Given the description of an element on the screen output the (x, y) to click on. 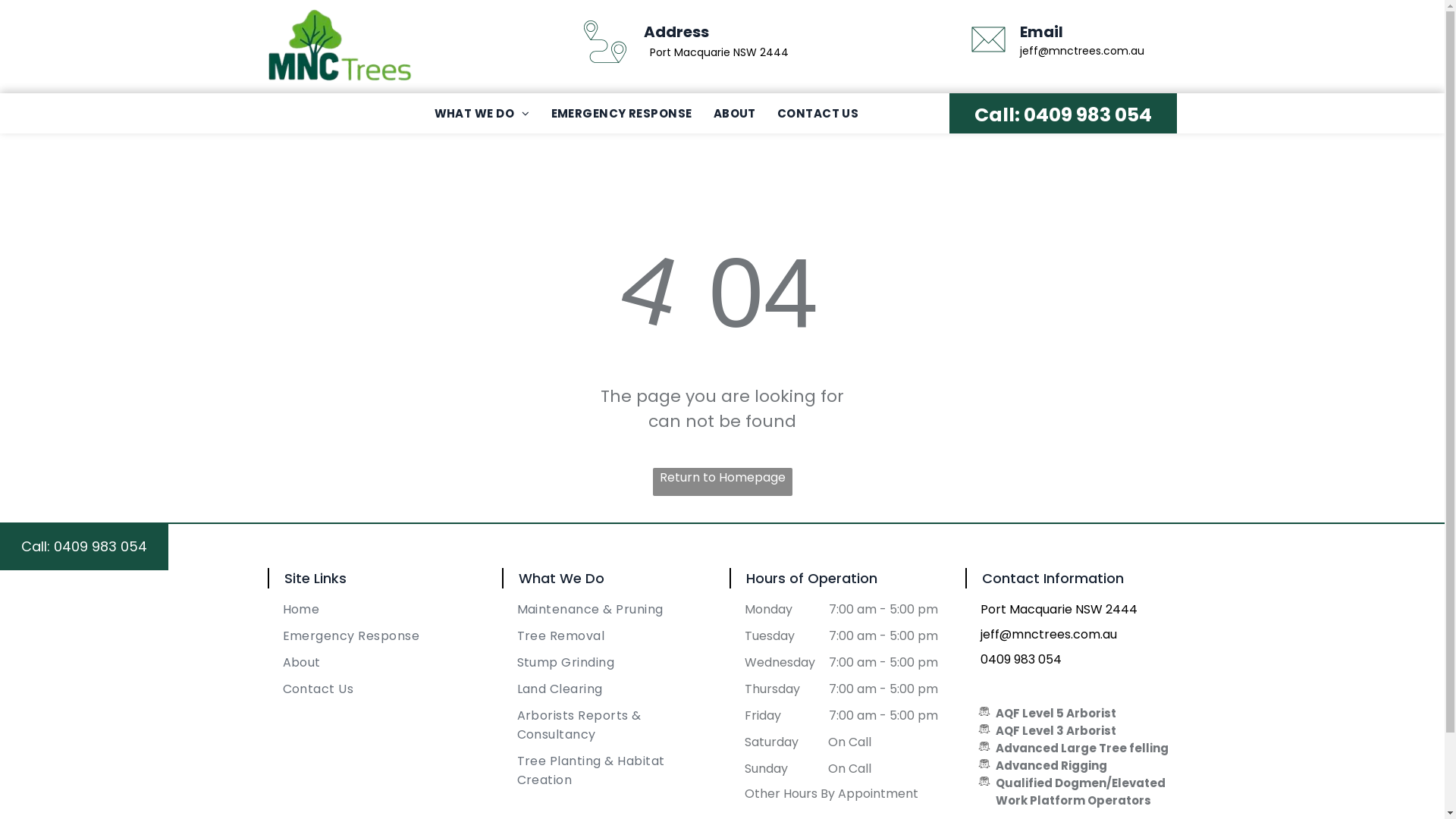
jeff@mnctrees.com.au Element type: text (1081, 50)
Home Element type: text (381, 609)
WHAT WE DO Element type: text (481, 113)
Port Macquarie NSW 2444 Element type: text (718, 51)
CONTACT US Element type: text (817, 113)
ABOUT Element type: text (734, 113)
Maintenance & Pruning Element type: text (616, 609)
Arborists Reports & Consultancy Element type: text (616, 724)
jeff@mnctrees.com.au Element type: text (1047, 634)
Tree Removal Element type: text (616, 635)
Emergency Response Element type: text (381, 635)
0409 983 054 Element type: text (1019, 659)
Tree Planting & Habitat Creation Element type: text (616, 770)
Port Macquarie NSW 2444 Element type: text (1057, 609)
Land Clearing Element type: text (616, 688)
0409 983 054 Element type: text (1087, 114)
Return to Homepage Element type: text (721, 481)
About Element type: text (381, 662)
Stump Grinding Element type: text (616, 662)
EMERGENCY RESPONSE Element type: text (621, 113)
Contact Us Element type: text (381, 688)
